Given the description of an element on the screen output the (x, y) to click on. 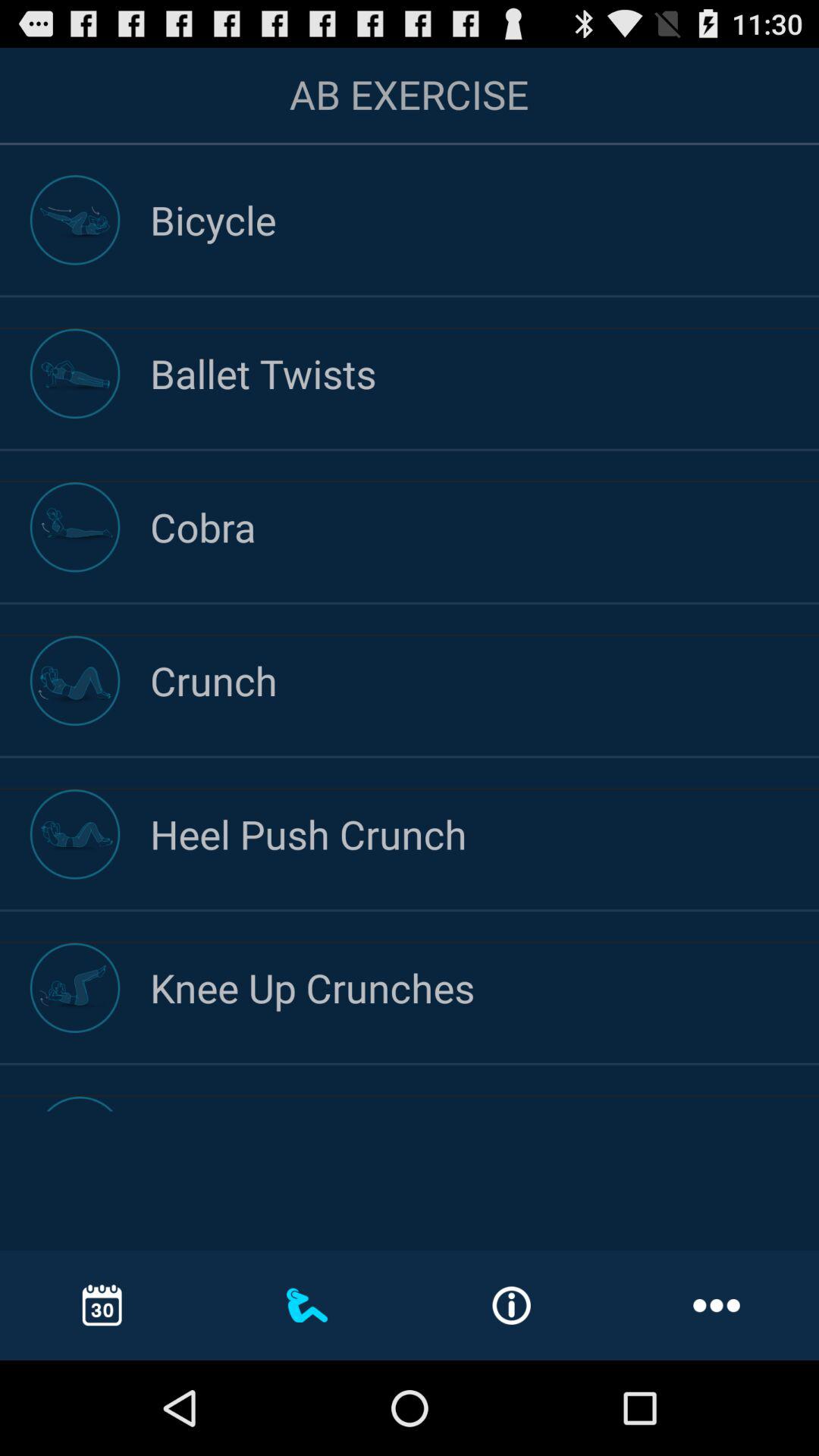
press the ballet twists app (484, 372)
